Given the description of an element on the screen output the (x, y) to click on. 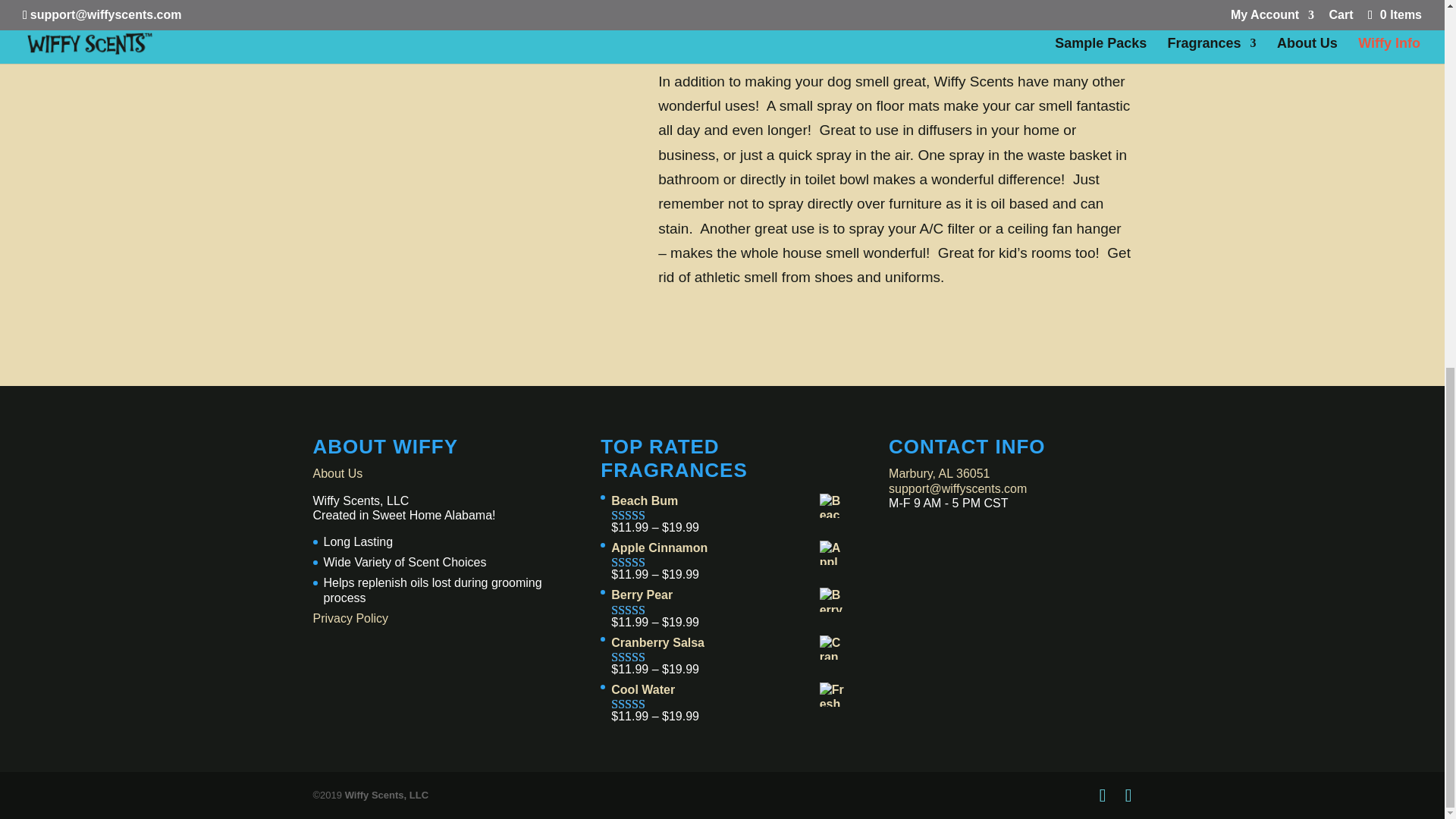
Marbury, AL 36051 (939, 472)
Apple Cinnamon (727, 547)
About Us (337, 472)
Cranberry Salsa (727, 642)
Berry Pear (727, 594)
Cool Water (727, 689)
Privacy Policy (350, 617)
Beach Bum (727, 500)
